Given the description of an element on the screen output the (x, y) to click on. 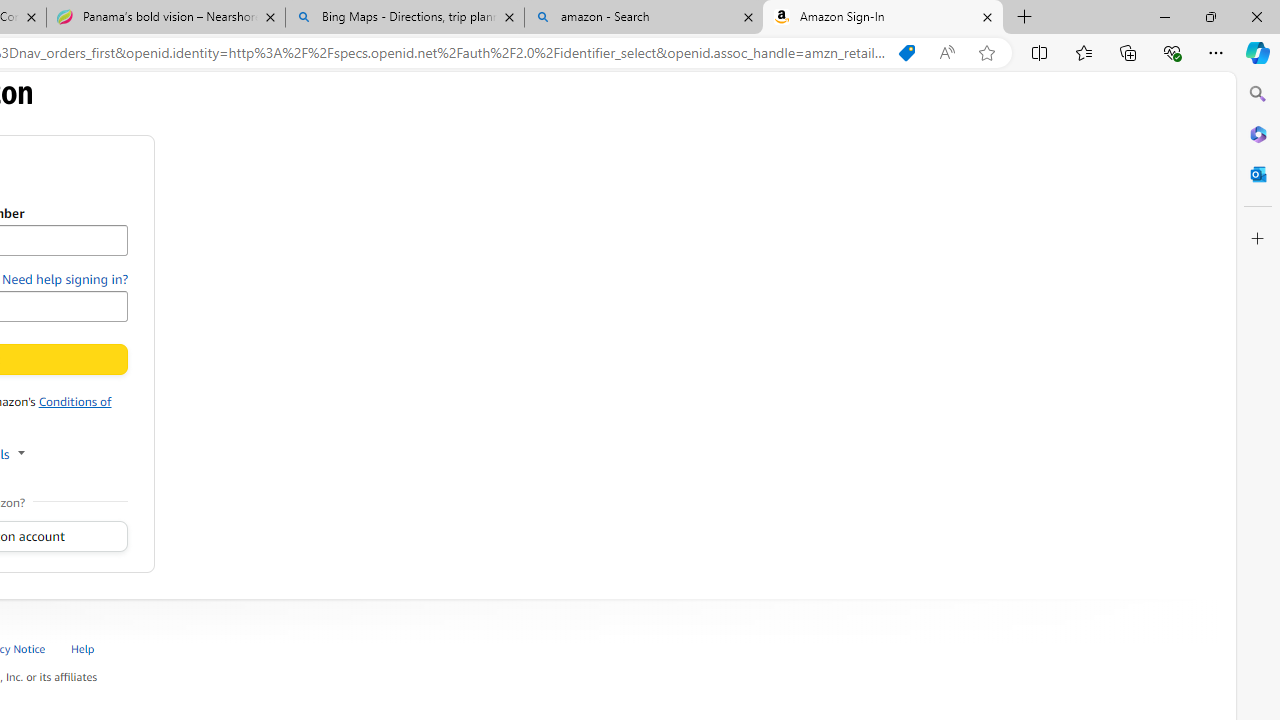
Amazon Sign-In (883, 17)
Help  (93, 648)
Need help signing in? (65, 279)
Help  (84, 647)
amazon - Search (643, 17)
